Given the description of an element on the screen output the (x, y) to click on. 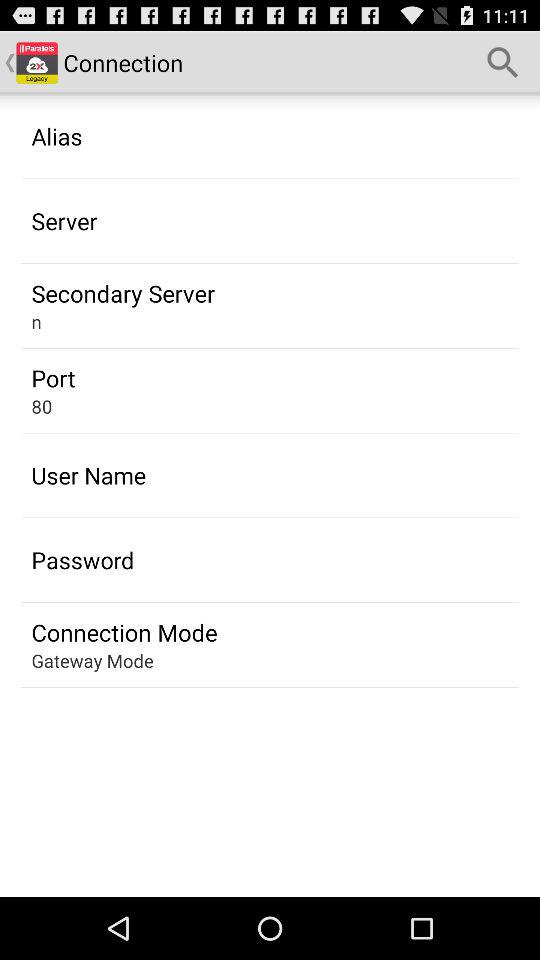
flip to the connection mode (124, 632)
